Given the description of an element on the screen output the (x, y) to click on. 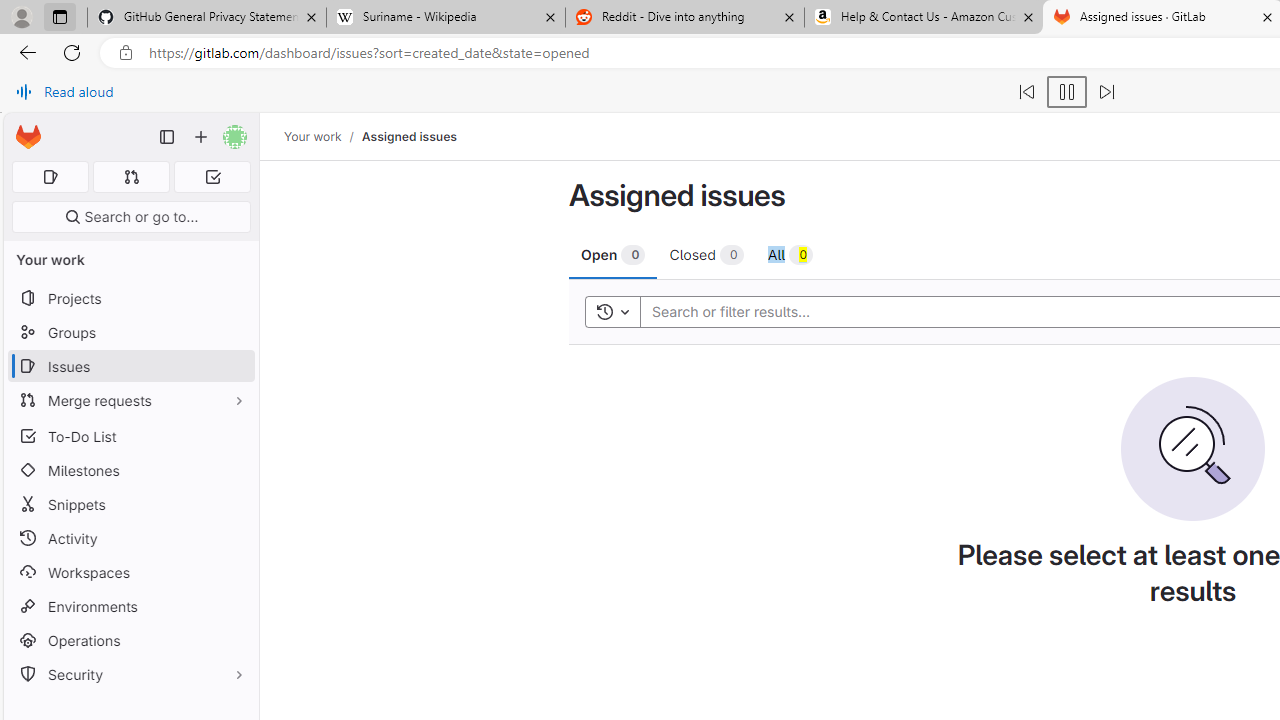
Merge requests 0 (131, 177)
Issues (130, 366)
Read next paragraph (1105, 92)
Environments (130, 605)
Milestones (130, 470)
Pause read aloud (Ctrl+Shift+U) (1065, 92)
Merge requests (130, 399)
Assigned issues (408, 136)
Toggle history (612, 311)
Merge requests (130, 399)
